Given the description of an element on the screen output the (x, y) to click on. 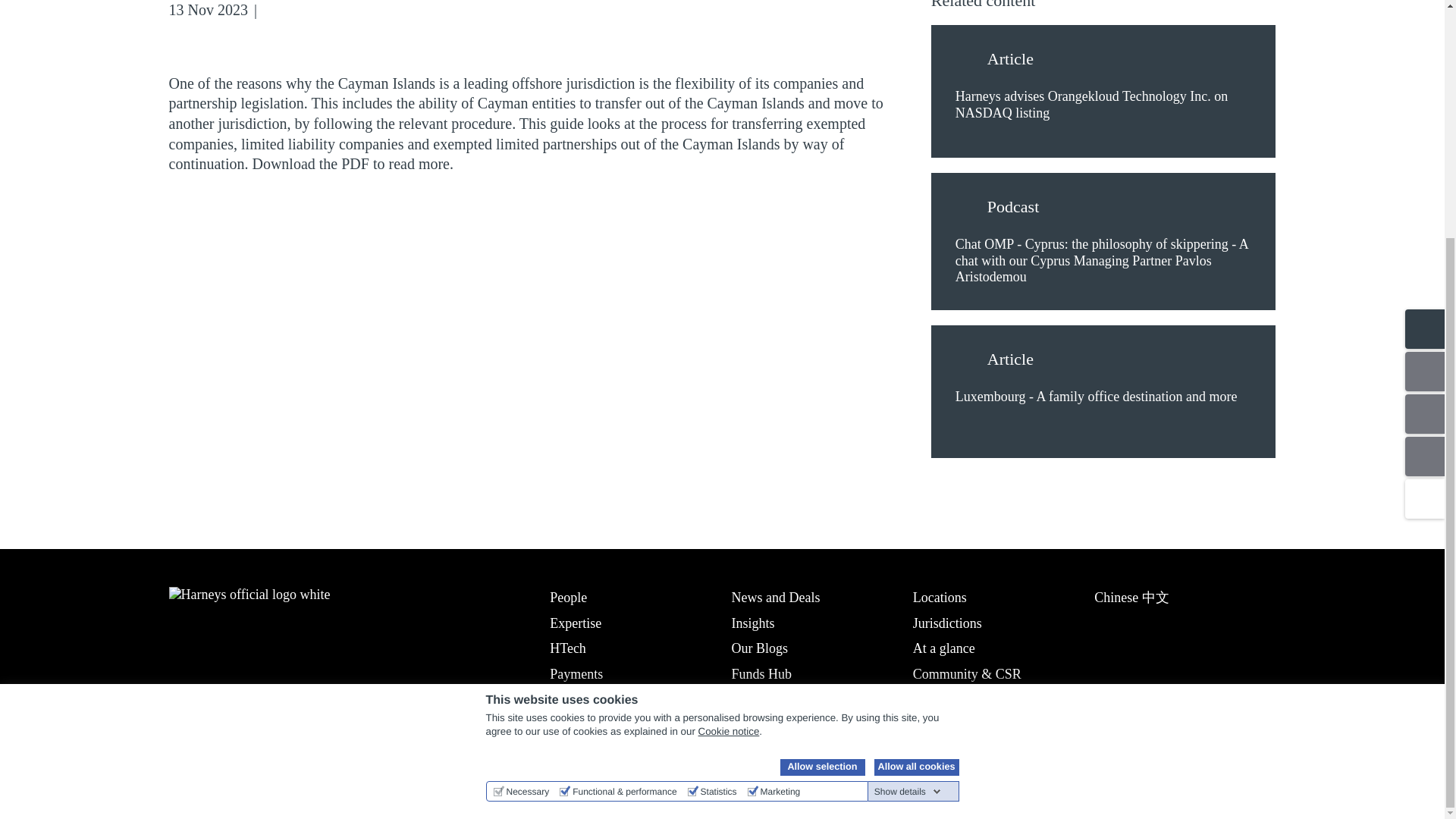
Download (368, 11)
Cookie notice (729, 405)
instagram (258, 756)
linkedIn (180, 756)
Allow all cookies (915, 441)
Show details (906, 465)
microphone (967, 209)
x (219, 756)
X (295, 11)
info (967, 61)
Rss (344, 11)
Print (393, 11)
